Given the description of an element on the screen output the (x, y) to click on. 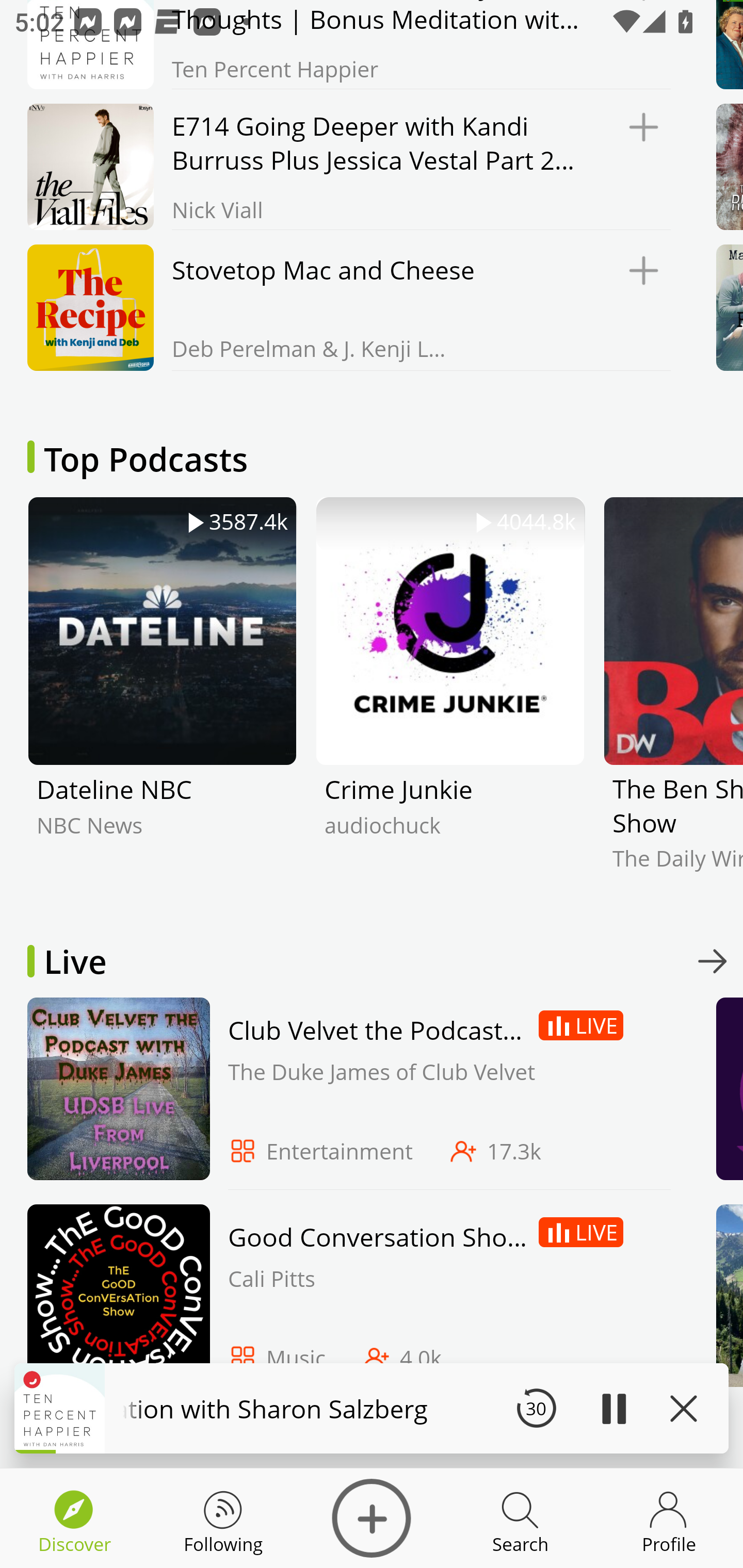
Ten Percent Happier (344, 44)
3587.4k Dateline NBC NBC News (162, 698)
4044.8k Crime Junkie audiochuck (450, 698)
The Ben Shapiro Show The Daily Wire (673, 698)
Good Conversation Show. LIVE Cali Pitts Music 4.0k (344, 1300)
Play (613, 1407)
30 Seek Backward (536, 1407)
Discover Following (222, 1518)
Discover (371, 1518)
Discover Search (519, 1518)
Discover Profile (668, 1518)
